Given the description of an element on the screen output the (x, y) to click on. 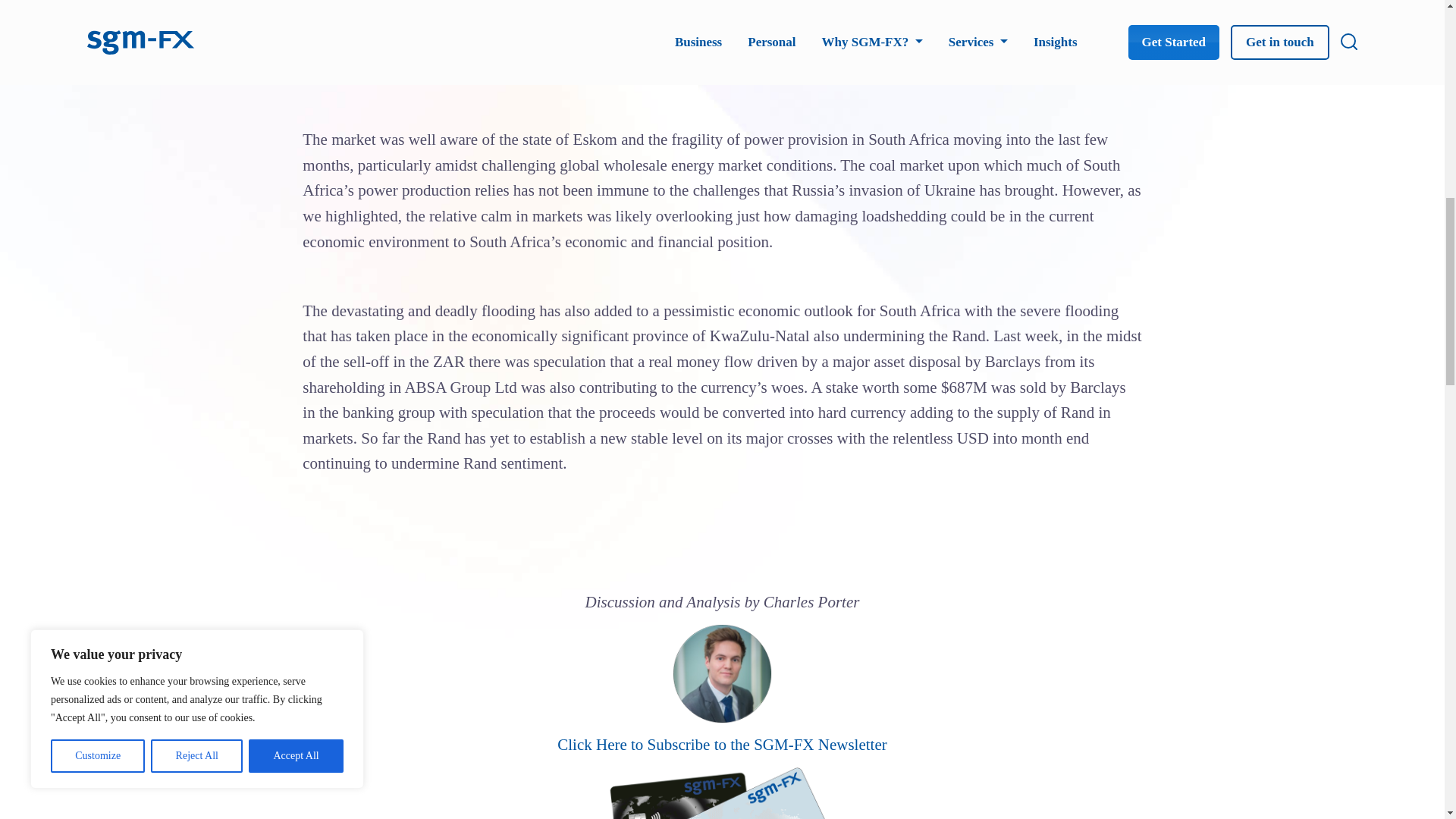
Click Here to Subscribe to the SGM-FX Newsletter (721, 744)
